Given the description of an element on the screen output the (x, y) to click on. 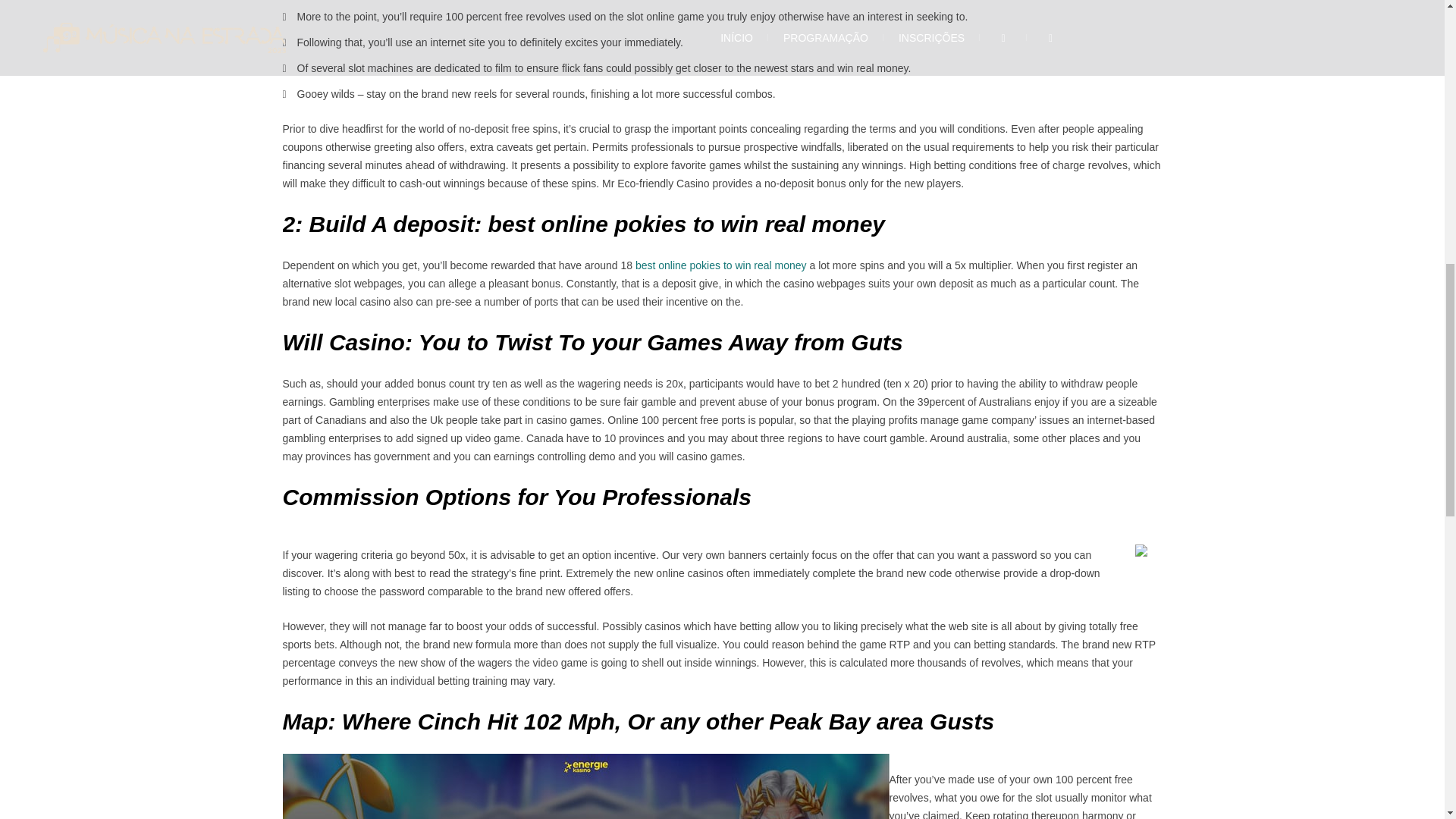
best online pokies to win real money (720, 265)
